Given the description of an element on the screen output the (x, y) to click on. 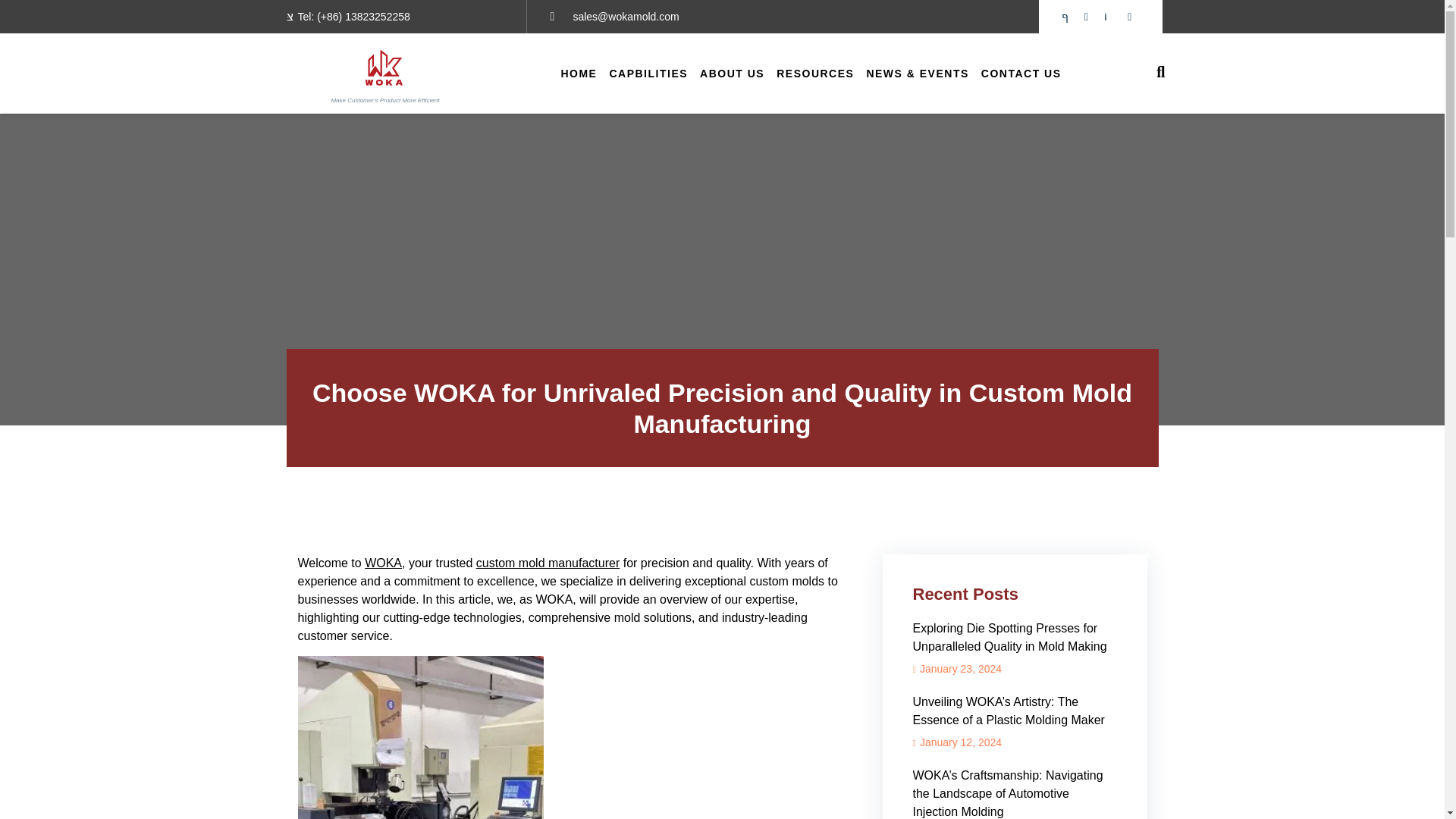
CONTACT US (1021, 72)
HOME (578, 72)
WOKA (383, 562)
ABOUT US (732, 72)
CAPBILITIES (648, 72)
custom mold manufacturer (548, 562)
RESOURCES (815, 72)
